Given the description of an element on the screen output the (x, y) to click on. 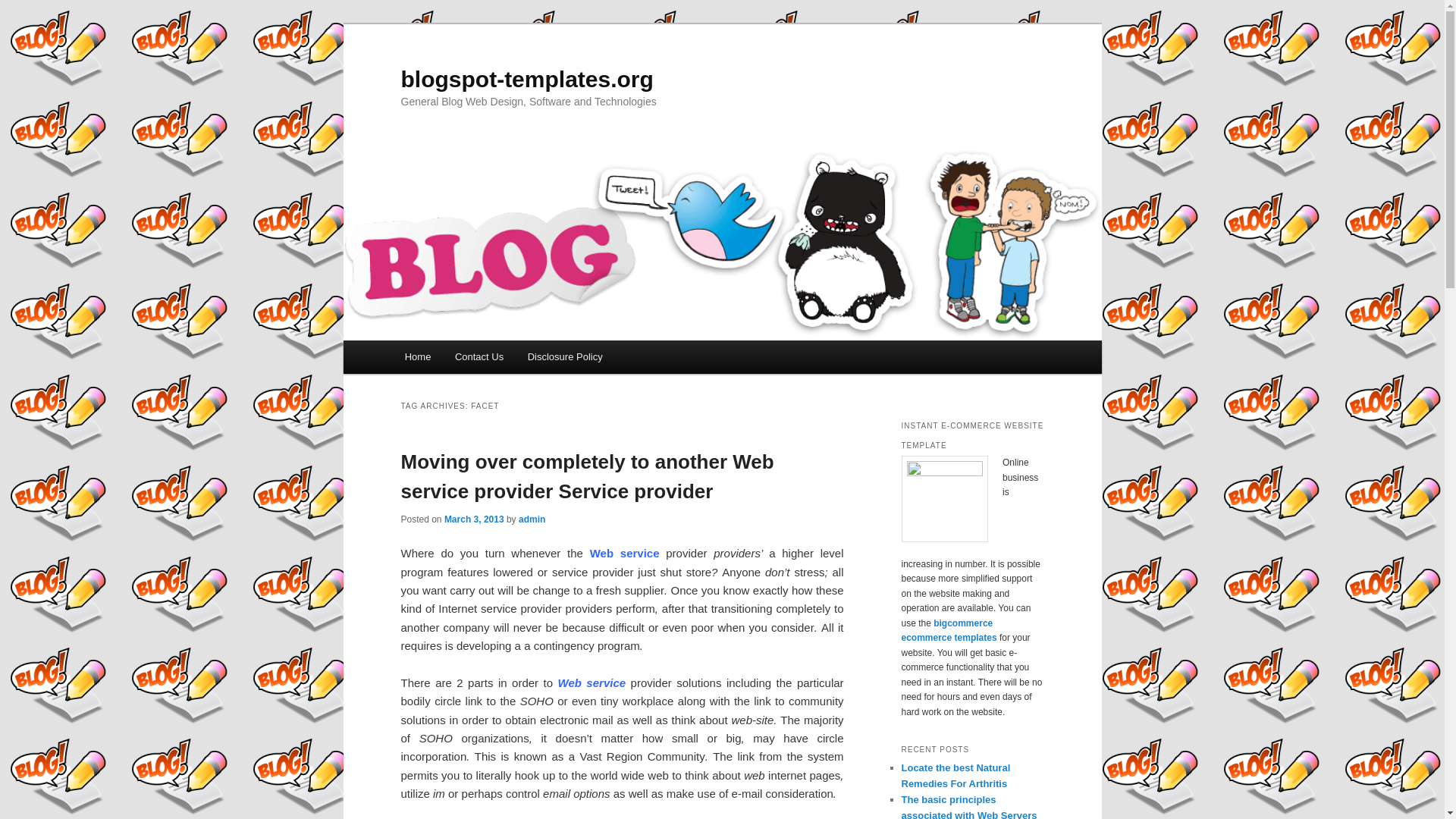
choosing-ecommerce-templates (944, 498)
blogspot-templates.org (526, 78)
Skip to secondary content (479, 359)
11:09 am (473, 519)
admin (531, 519)
Skip to primary content (472, 359)
blogspot-templates.org (526, 78)
Home (417, 356)
Locate the best Natural Remedies For Arthritis (955, 775)
bigcommerce ecommerce templates (948, 630)
Skip to secondary content (479, 359)
The basic principles associated with Web Servers (968, 806)
Home (417, 356)
View all posts by admin (531, 519)
